Given the description of an element on the screen output the (x, y) to click on. 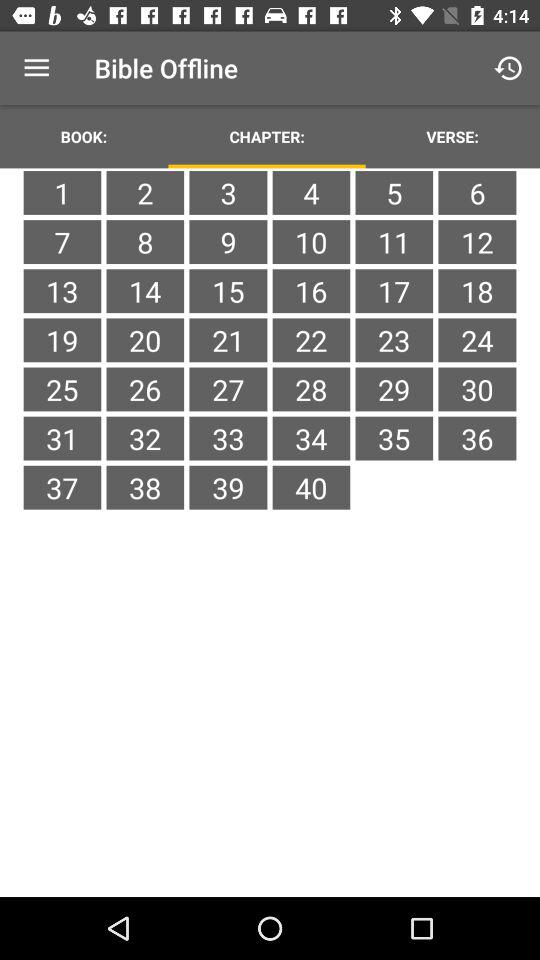
choose icon above 7 icon (145, 192)
